Given the description of an element on the screen output the (x, y) to click on. 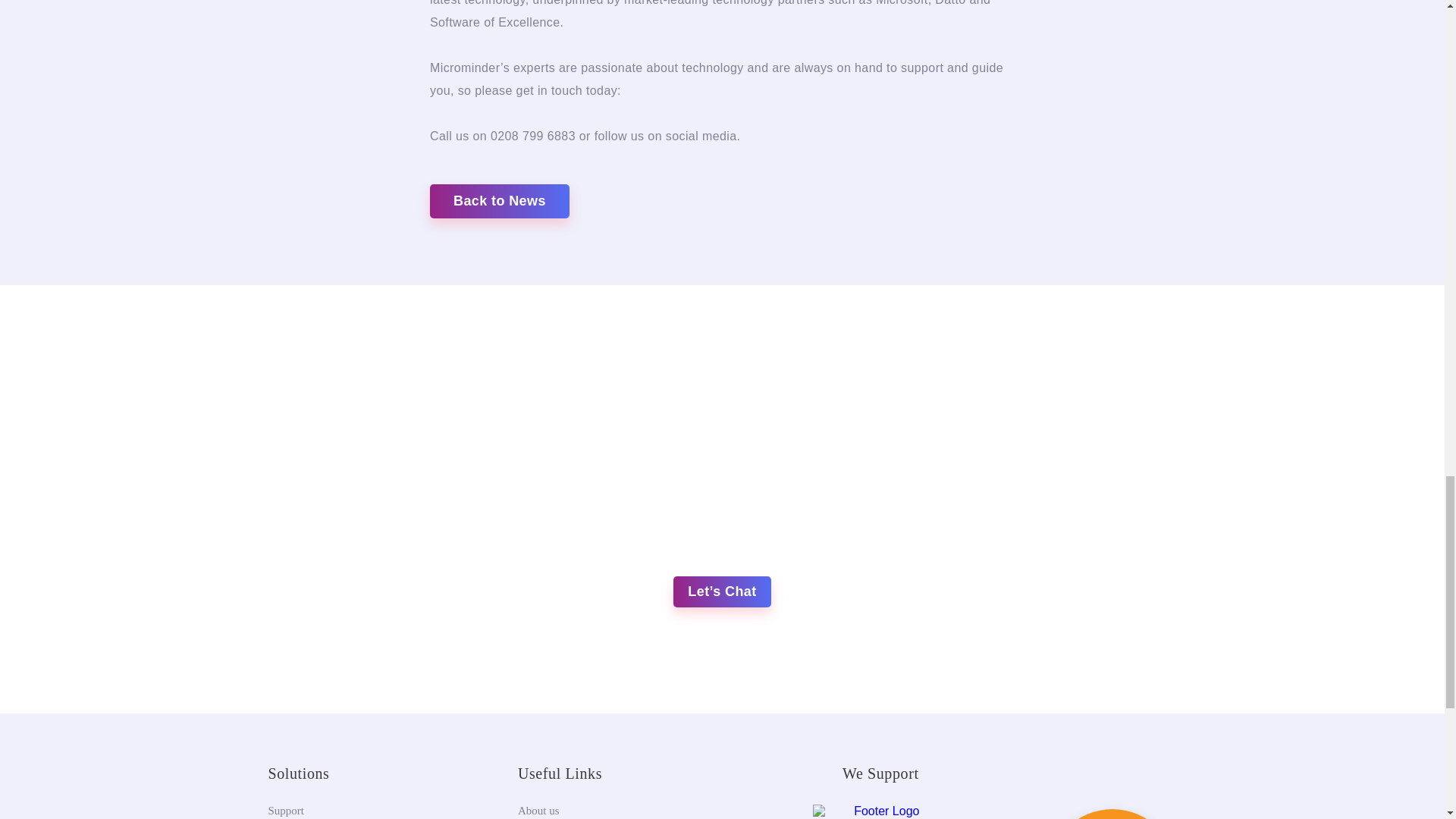
Support (285, 810)
Back to News (499, 201)
